Given the description of an element on the screen output the (x, y) to click on. 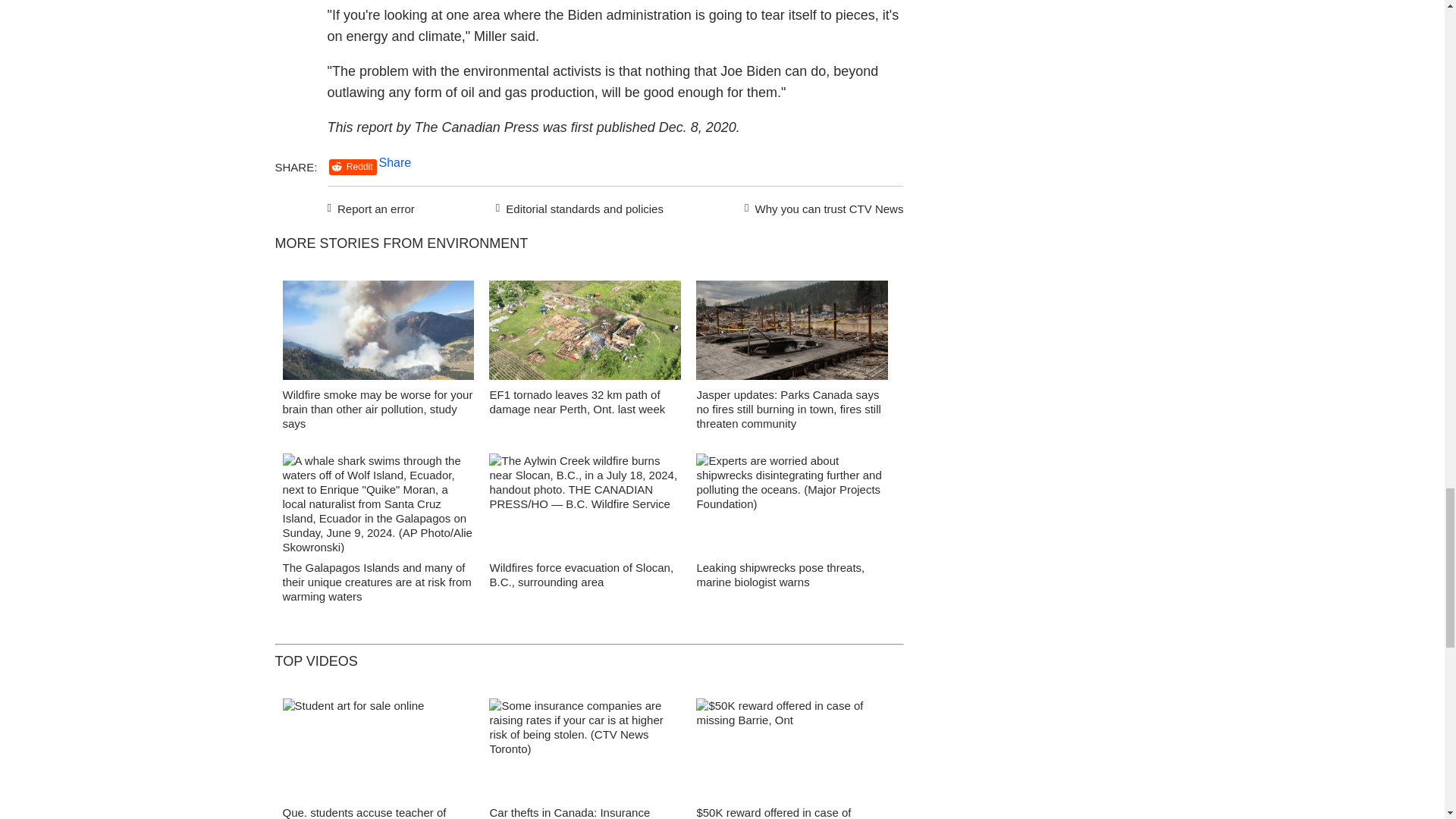
Share (395, 162)
Wildfires force evacuation of Slocan, B.C., surrounding area (580, 574)
Why you can trust CTV News (820, 206)
Report an error (370, 206)
Leaking shipwrecks pose threats, marine biologist warns (779, 574)
Editorial standards and policies (576, 206)
Reddit (353, 166)
false (378, 747)
